Given the description of an element on the screen output the (x, y) to click on. 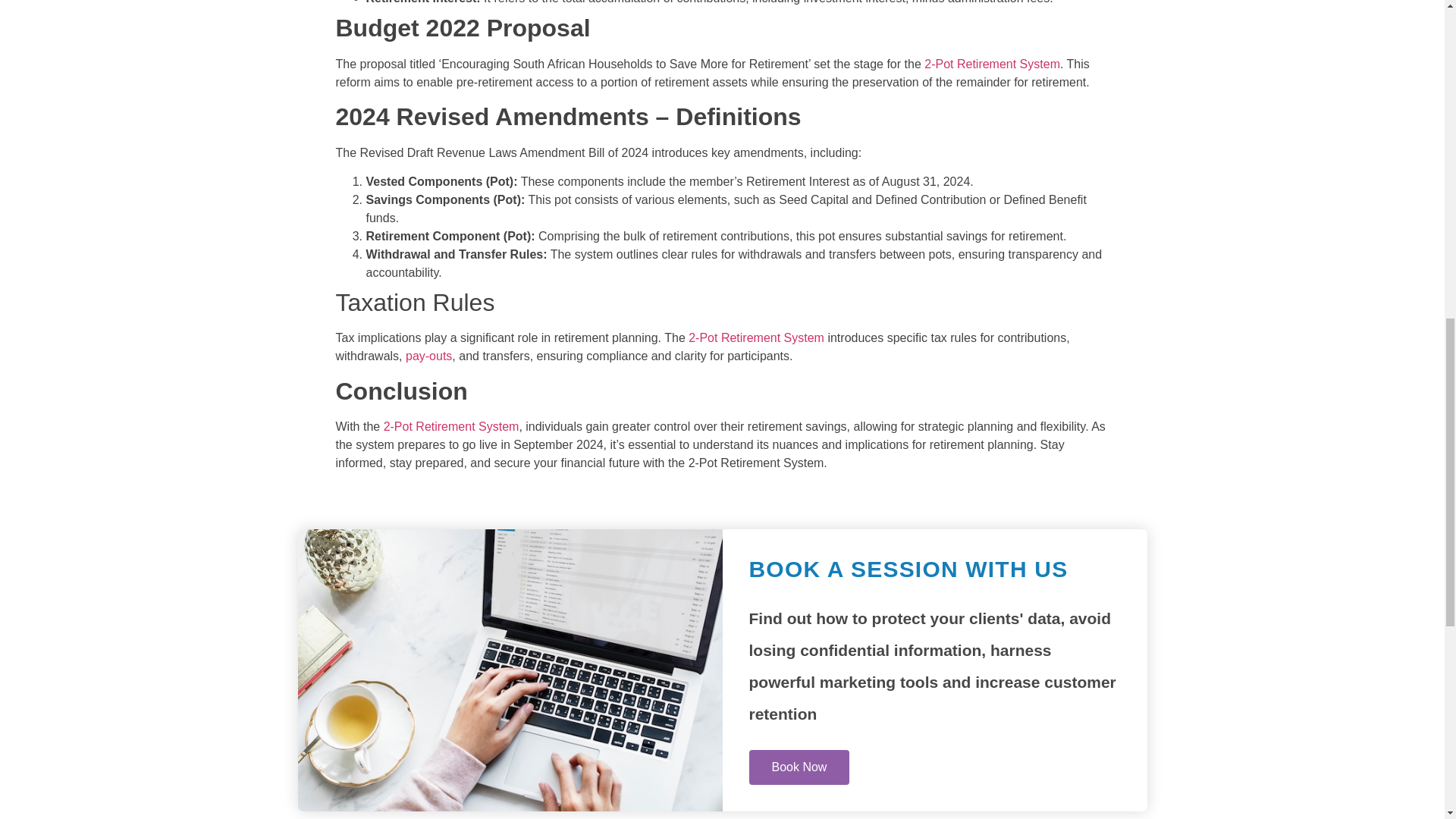
Book Now (799, 766)
pay-outs (428, 355)
2-Pot Retirement System (451, 426)
2-Pot Retirement System (991, 63)
2-Pot Retirement System (756, 337)
